Given the description of an element on the screen output the (x, y) to click on. 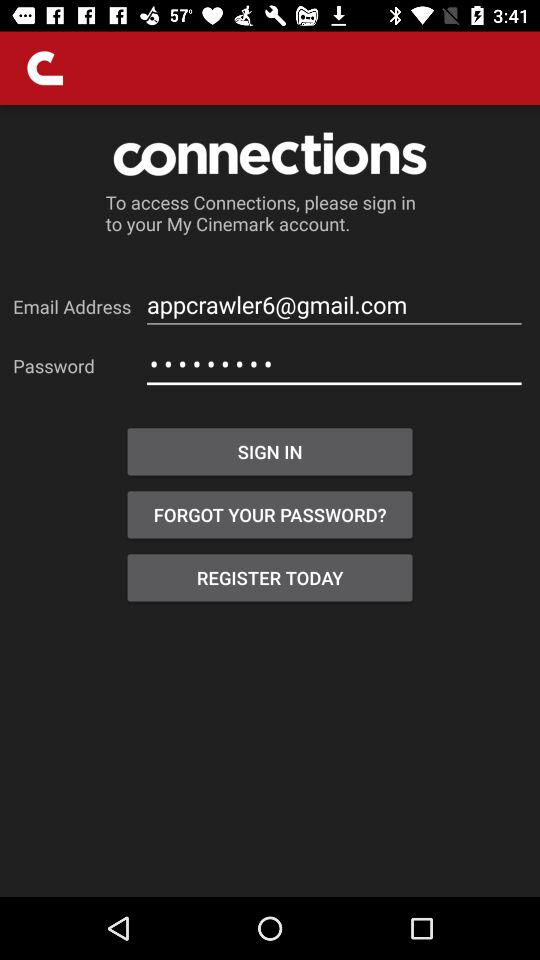
choose the item below the to access connections (333, 304)
